Given the description of an element on the screen output the (x, y) to click on. 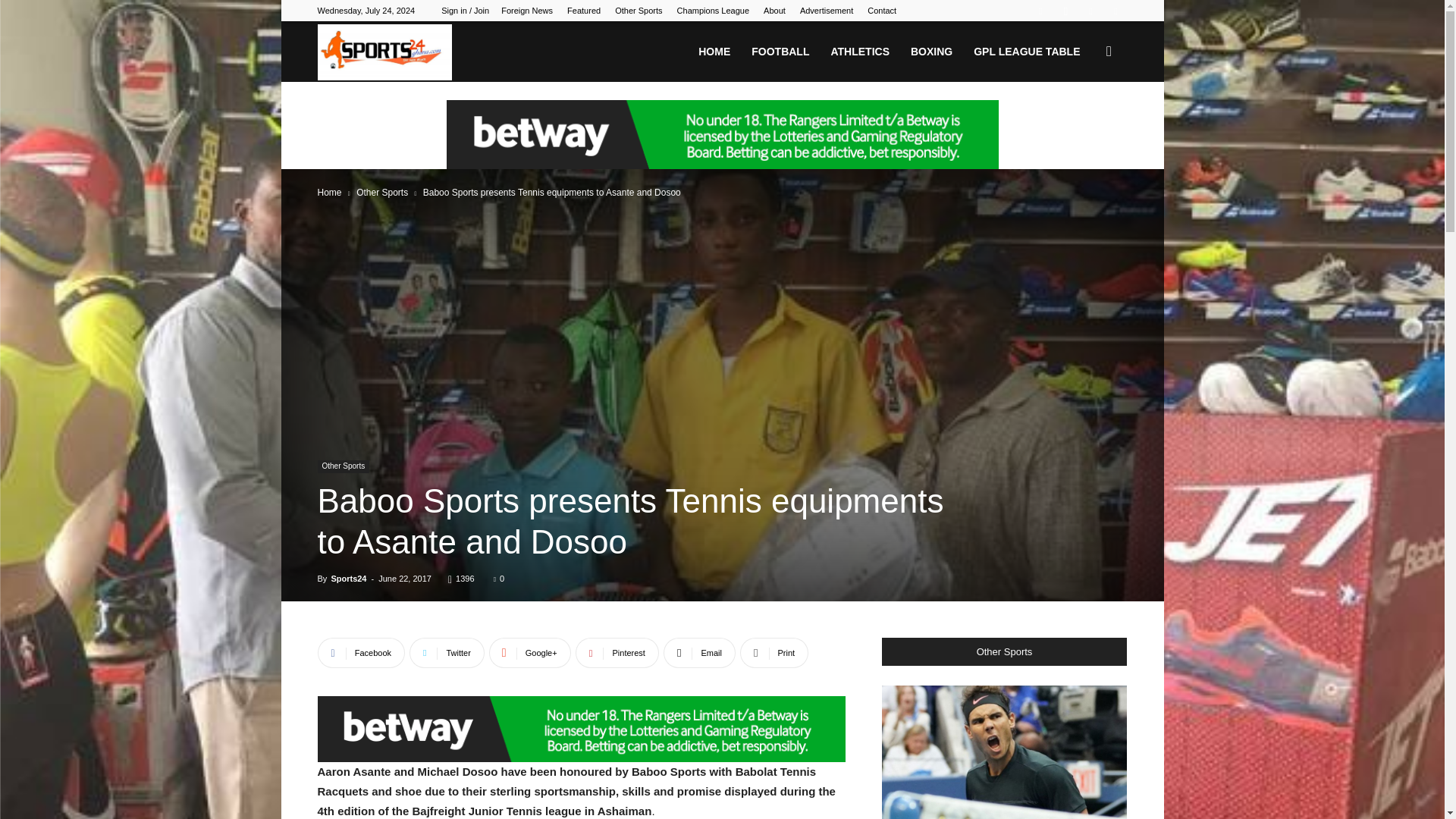
Contact (881, 10)
BOXING (930, 51)
Linkedin (1090, 10)
Advertisement (826, 10)
Sports 24 Ghana (384, 51)
View all posts in Other Sports (381, 192)
FOOTBALL (780, 51)
Sports 24 Ghana (384, 52)
Instagram (1065, 10)
Twitter (1114, 10)
About (774, 10)
Facebook (1040, 10)
Featured (583, 10)
Foreign News (526, 10)
ATHLETICS (859, 51)
